Given the description of an element on the screen output the (x, y) to click on. 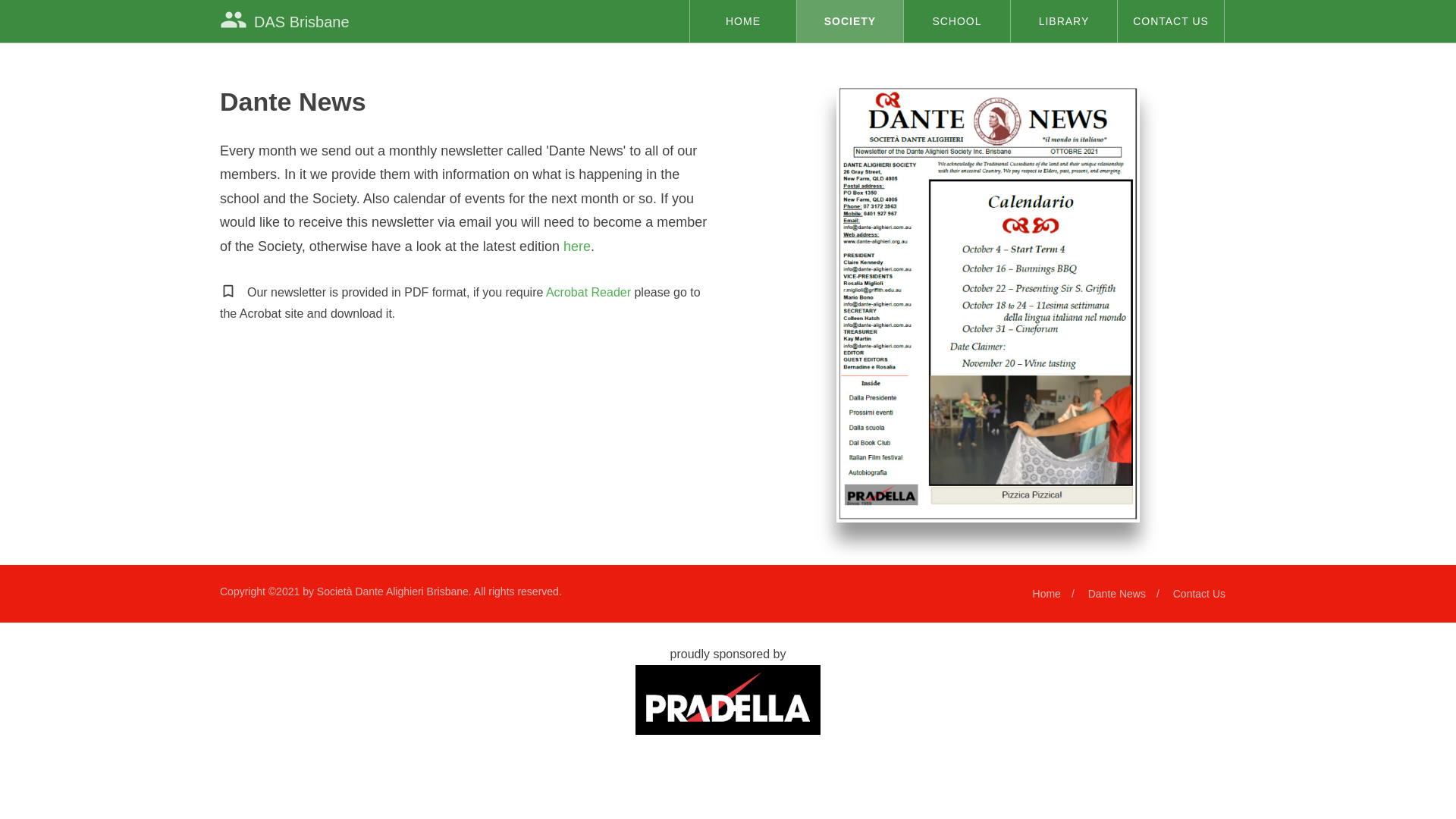
Dante News Element type: text (1116, 593)
SCHOOL Element type: text (956, 21)
Dante News Element type: hover (987, 302)
Acrobat Reader Element type: text (588, 291)
groupDAS Brisbane Element type: text (284, 21)
Home Element type: text (1046, 593)
HOME Element type: text (743, 21)
Contact Us Element type: text (1199, 593)
SOCIETY Element type: text (850, 21)
CONTACT US Element type: text (1170, 21)
here Element type: text (576, 245)
LIBRARY Element type: text (1063, 21)
